Given the description of an element on the screen output the (x, y) to click on. 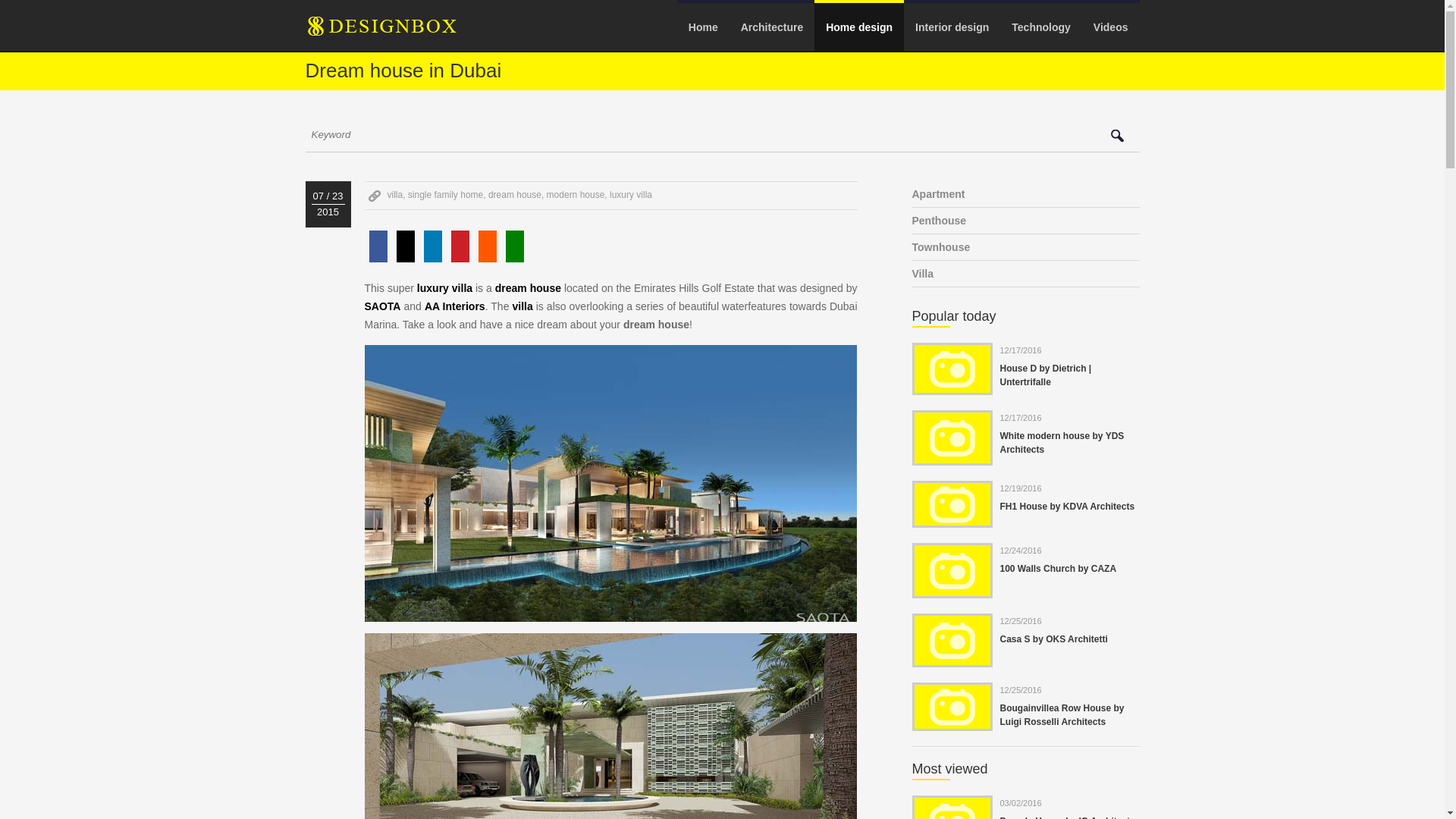
Architecture (771, 27)
single family home (445, 194)
dream house (527, 287)
villa (395, 194)
Interior design (952, 27)
villa (522, 306)
88DesignBox (394, 31)
Videos (1110, 27)
SAOTA (382, 306)
Home (703, 27)
